Given the description of an element on the screen output the (x, y) to click on. 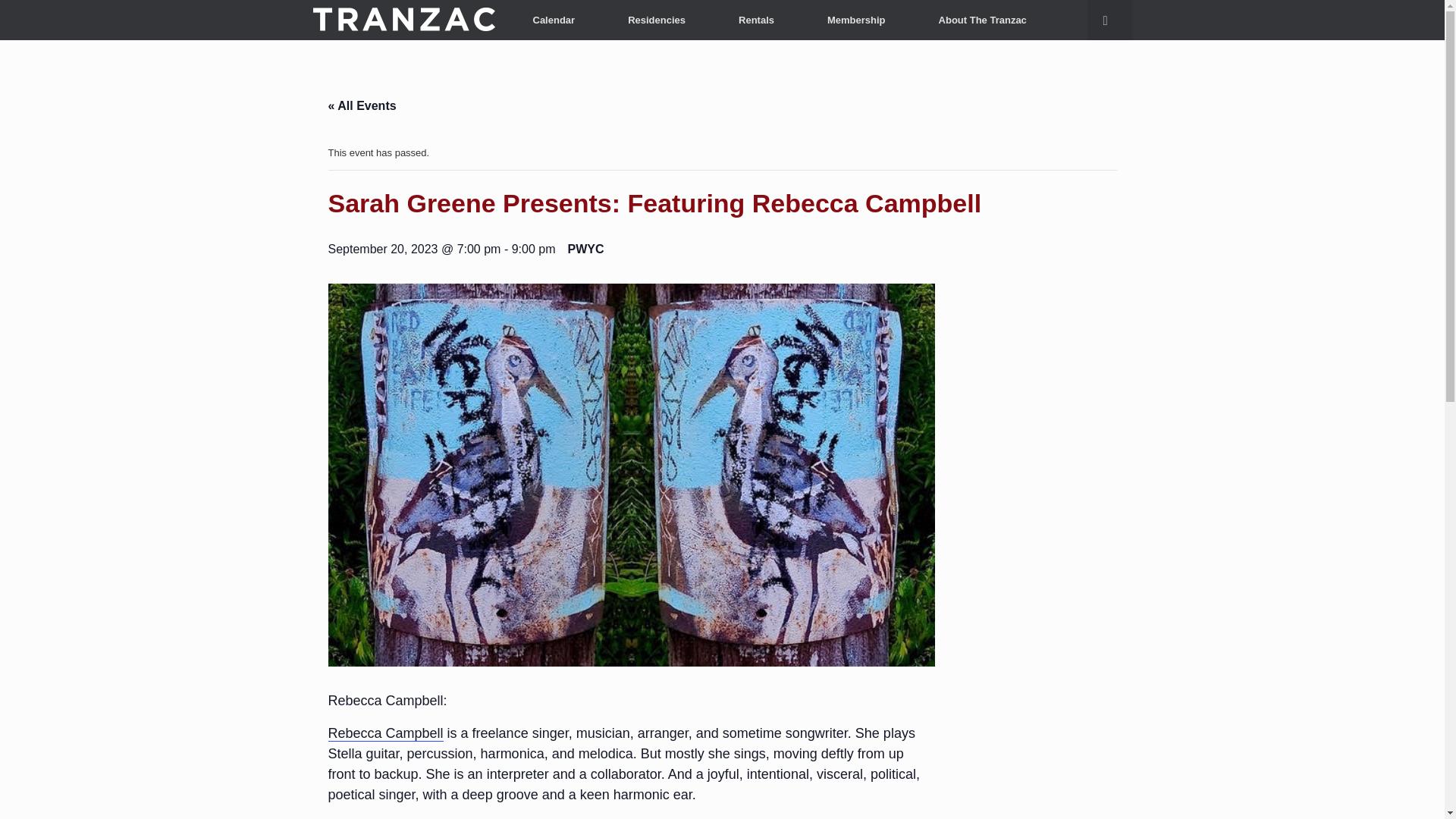
Residencies (656, 20)
Rentals (755, 20)
Tranzac Club (404, 20)
Rebecca Campbell (384, 733)
Membership (856, 20)
About The Tranzac (982, 20)
Calendar (554, 20)
